Given the description of an element on the screen output the (x, y) to click on. 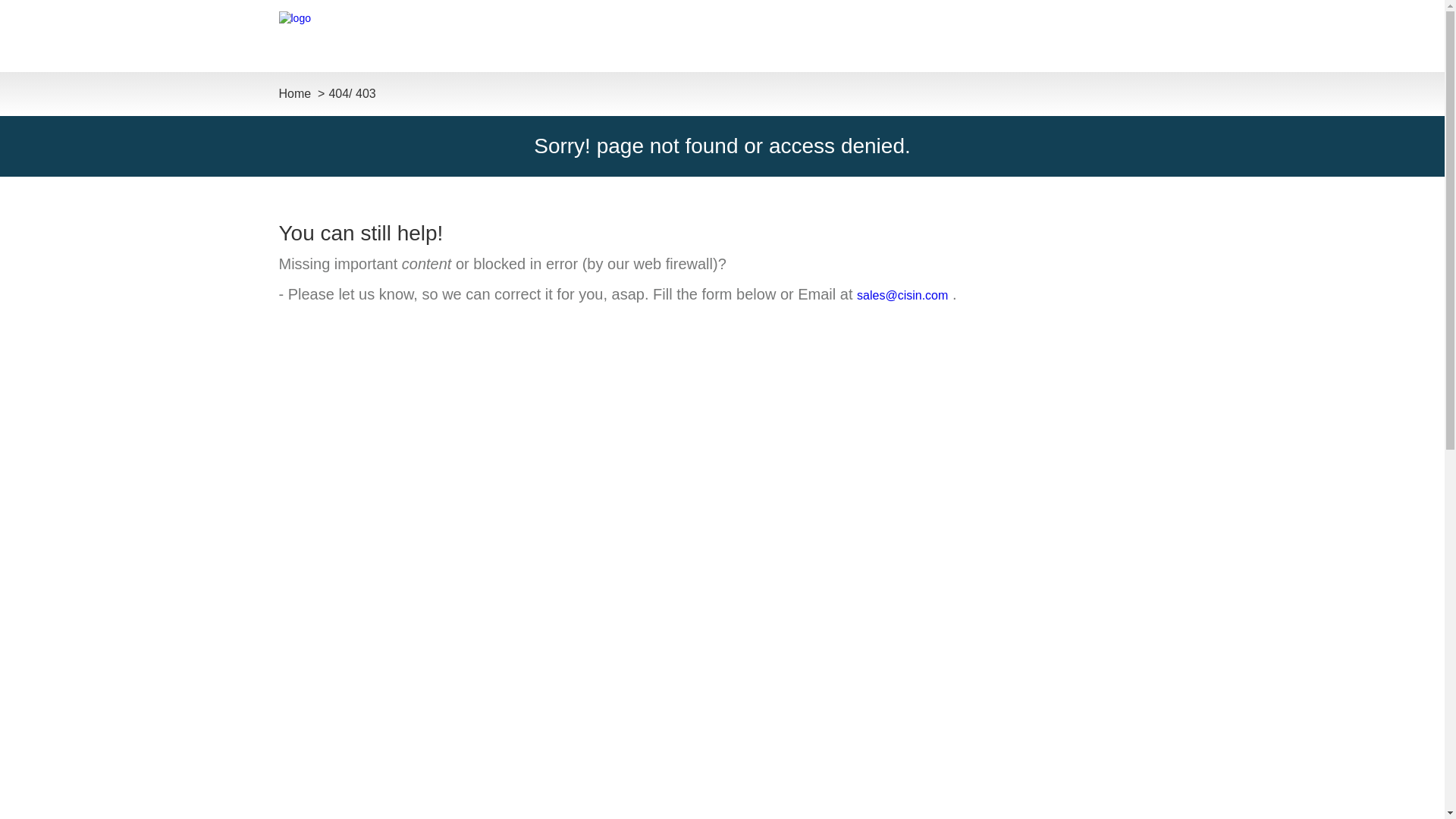
Navigation Bar Links (1147, 35)
Home (295, 92)
content (426, 263)
 content  (426, 263)
